Given the description of an element on the screen output the (x, y) to click on. 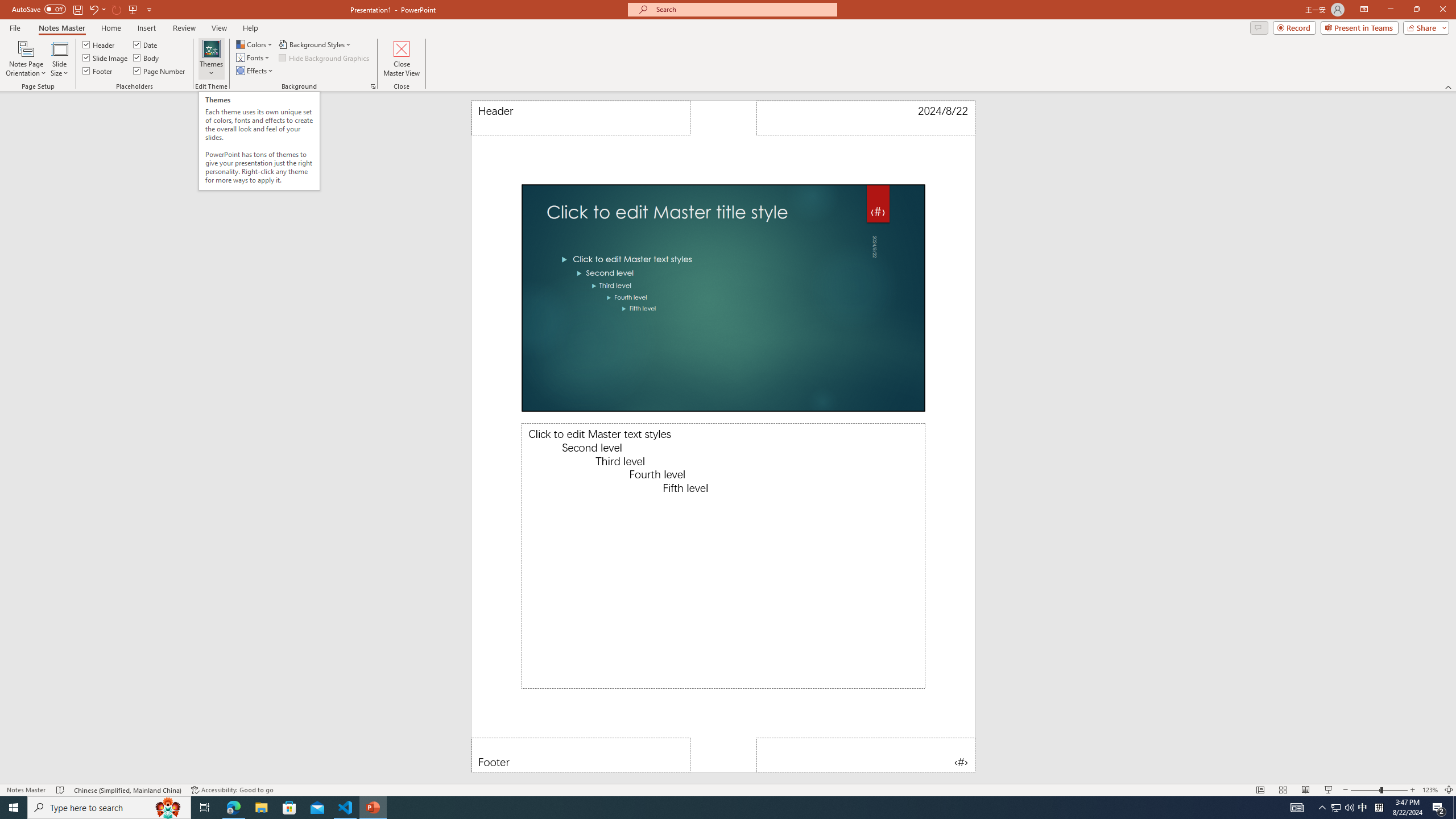
Slide Image (105, 56)
